Given the description of an element on the screen output the (x, y) to click on. 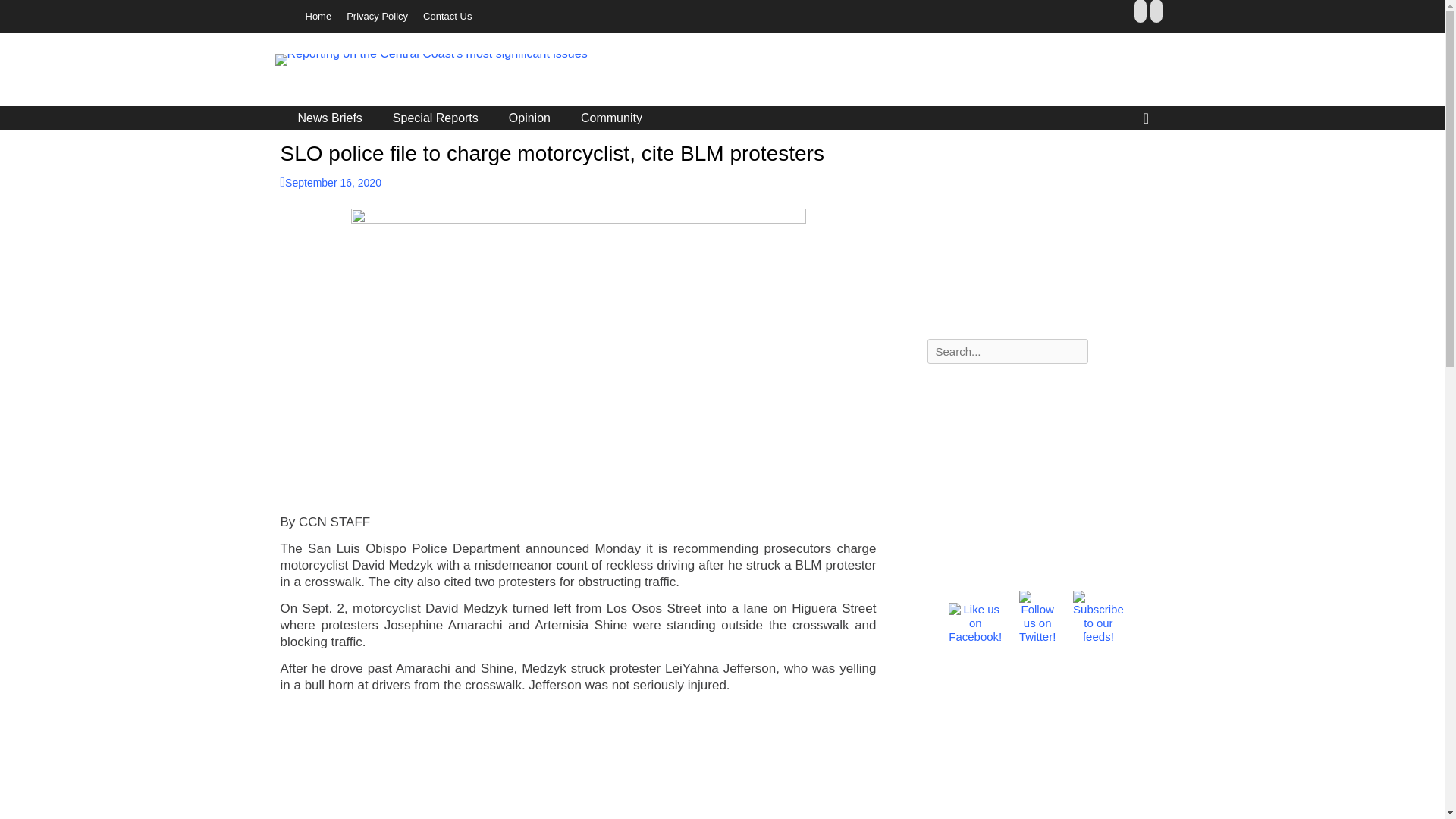
News Briefs (329, 117)
Cal Coast Times RSS Feed (1098, 616)
Opinion (529, 117)
Search (24, 9)
Search for: (1006, 351)
Cal Coast Times (386, 72)
Privacy Policy (376, 16)
Community (612, 117)
Cal Coast Times on Facebook (975, 616)
Home (318, 16)
Special Reports (435, 117)
Contact Us (446, 16)
September 16, 2020 (331, 182)
